Given the description of an element on the screen output the (x, y) to click on. 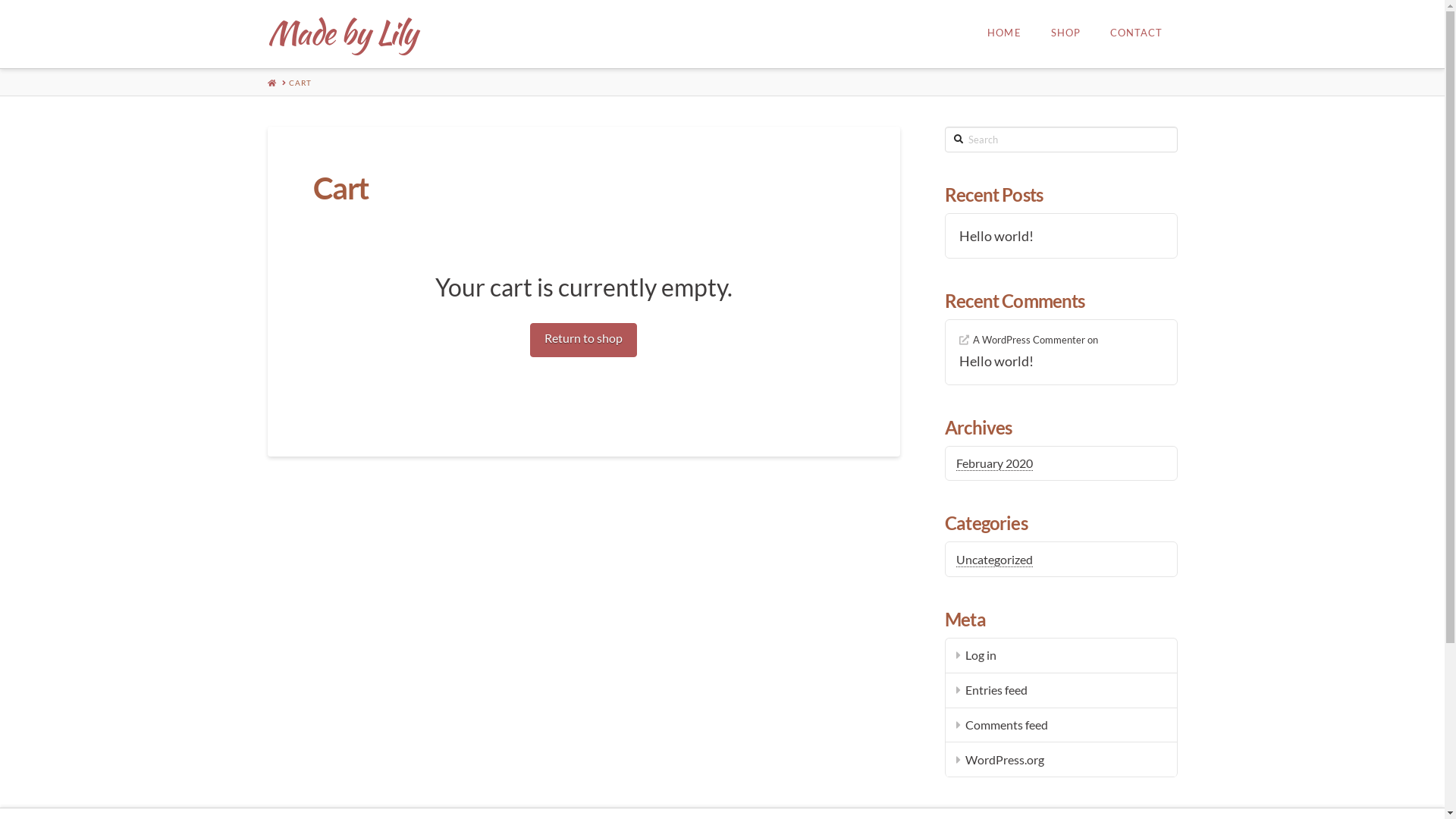
HOME Element type: text (271, 82)
Return to shop Element type: text (583, 340)
Uncategorized Element type: text (994, 559)
Entries feed Element type: text (1060, 690)
Hello world! Element type: text (1060, 236)
Made by Lily Element type: text (341, 32)
Comments feed Element type: text (1060, 725)
SHOP Element type: text (1065, 34)
WordPress.org Element type: text (1060, 759)
Log in Element type: text (1060, 655)
CONTACT Element type: text (1136, 34)
A WordPress Commenter Element type: text (1022, 339)
February 2020 Element type: text (994, 462)
Hello world! Element type: text (1060, 361)
HOME Element type: text (1003, 34)
CART Element type: text (299, 82)
